Given the description of an element on the screen output the (x, y) to click on. 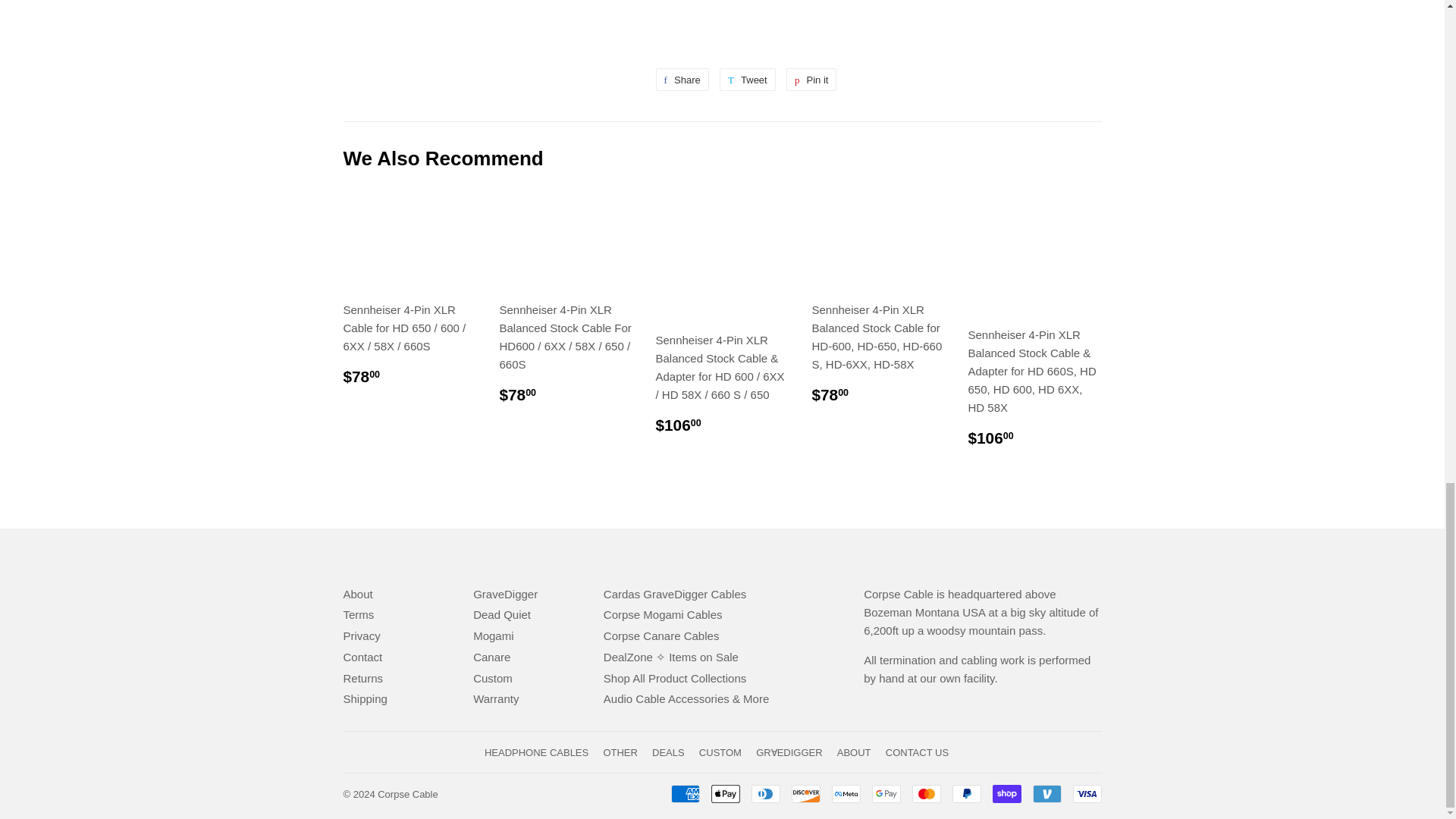
Shop Pay (1005, 793)
American Express (683, 793)
PayPal (966, 793)
Google Pay (886, 793)
Venmo (1046, 793)
Visa (1085, 793)
Diners Club (764, 793)
Apple Pay (725, 793)
Pin on Pinterest (811, 78)
Tweet on Twitter (747, 78)
Discover (806, 793)
Mastercard (925, 793)
Meta Pay (845, 793)
Share on Facebook (681, 78)
